Given the description of an element on the screen output the (x, y) to click on. 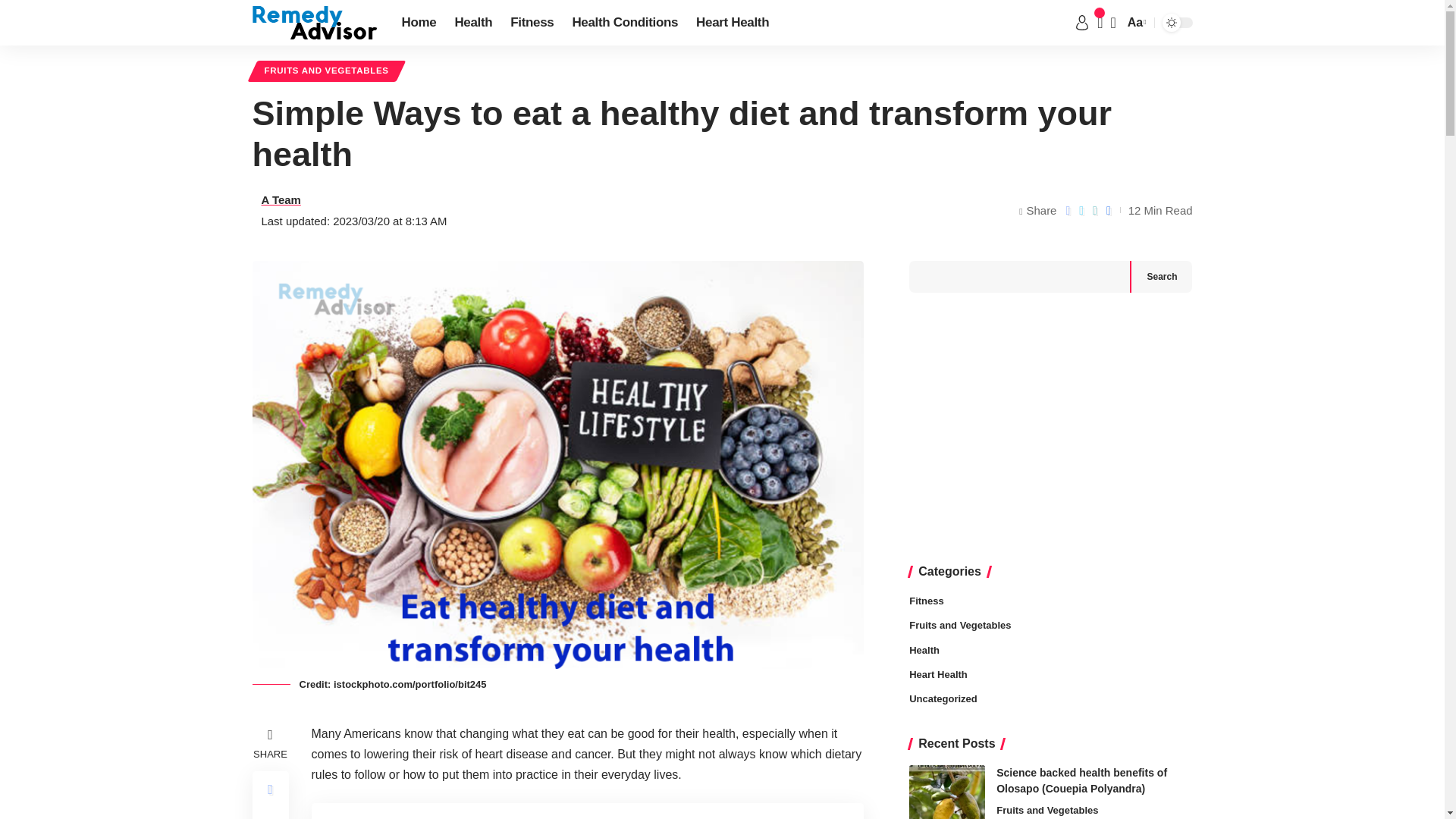
Remedy Advisor (314, 22)
Home (419, 22)
Aa (1135, 22)
Heart Health (732, 22)
Health (472, 22)
Advertisement (1050, 428)
Health Conditions (624, 22)
Fitness (531, 22)
